Given the description of an element on the screen output the (x, y) to click on. 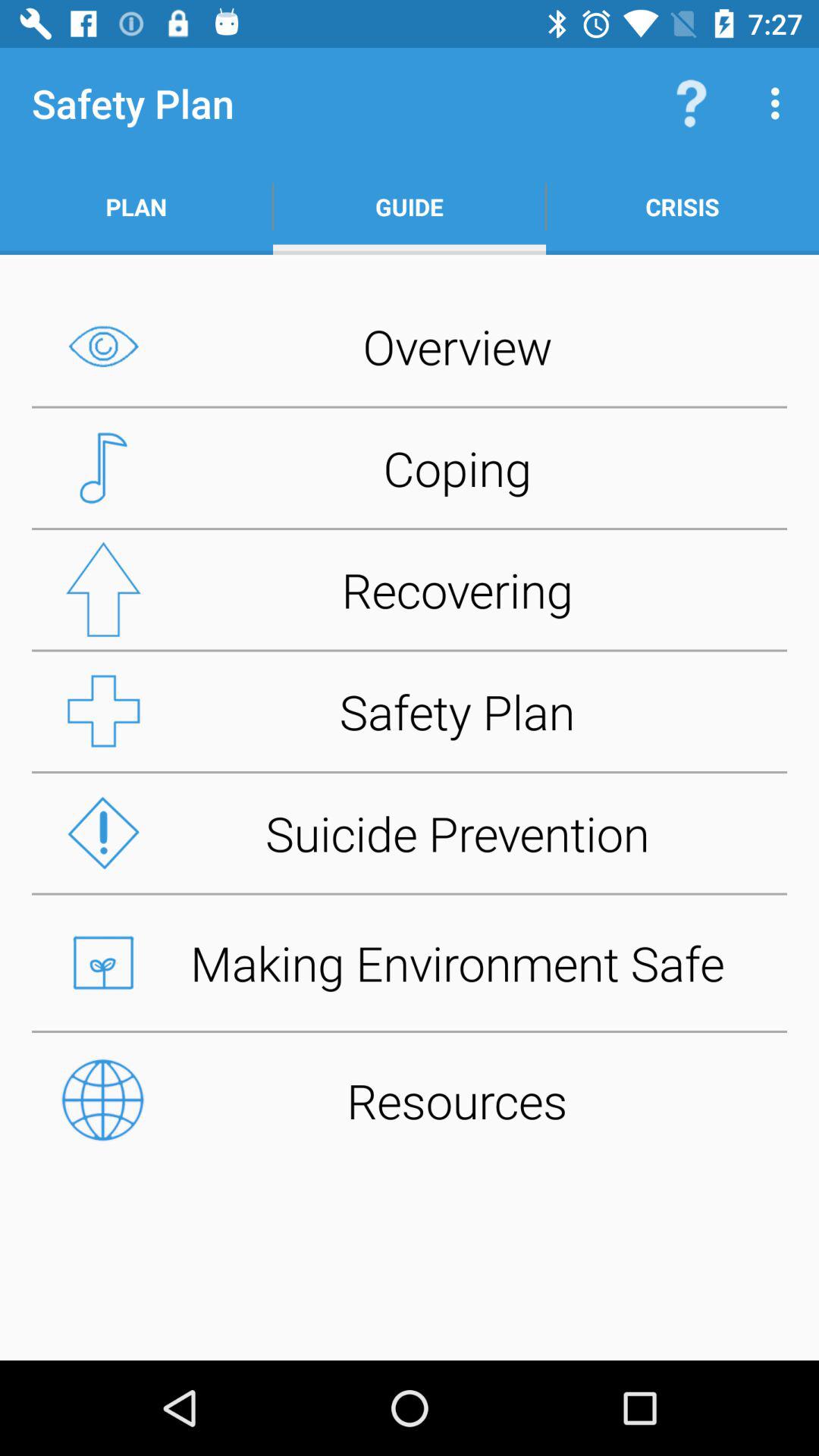
open item next to guide item (682, 206)
